Given the description of an element on the screen output the (x, y) to click on. 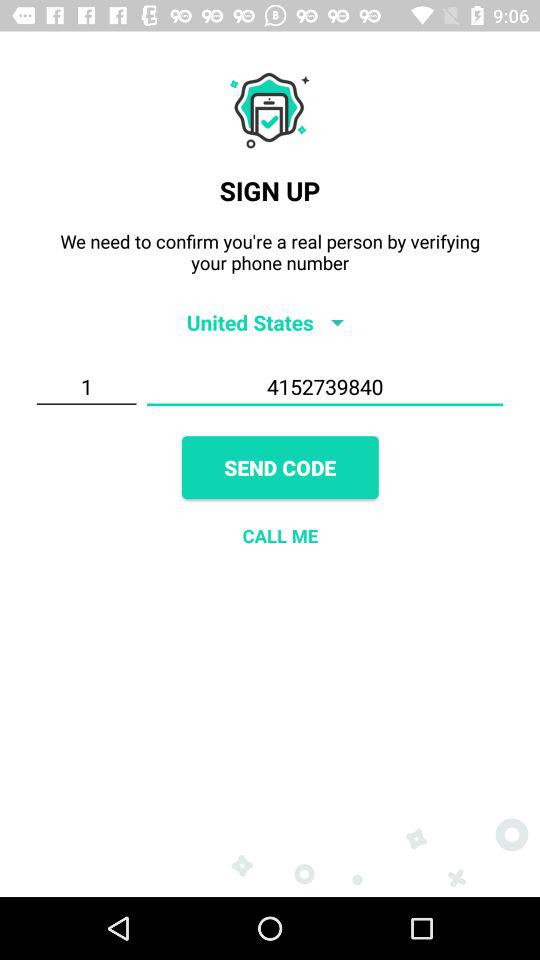
flip until call me icon (280, 535)
